Given the description of an element on the screen output the (x, y) to click on. 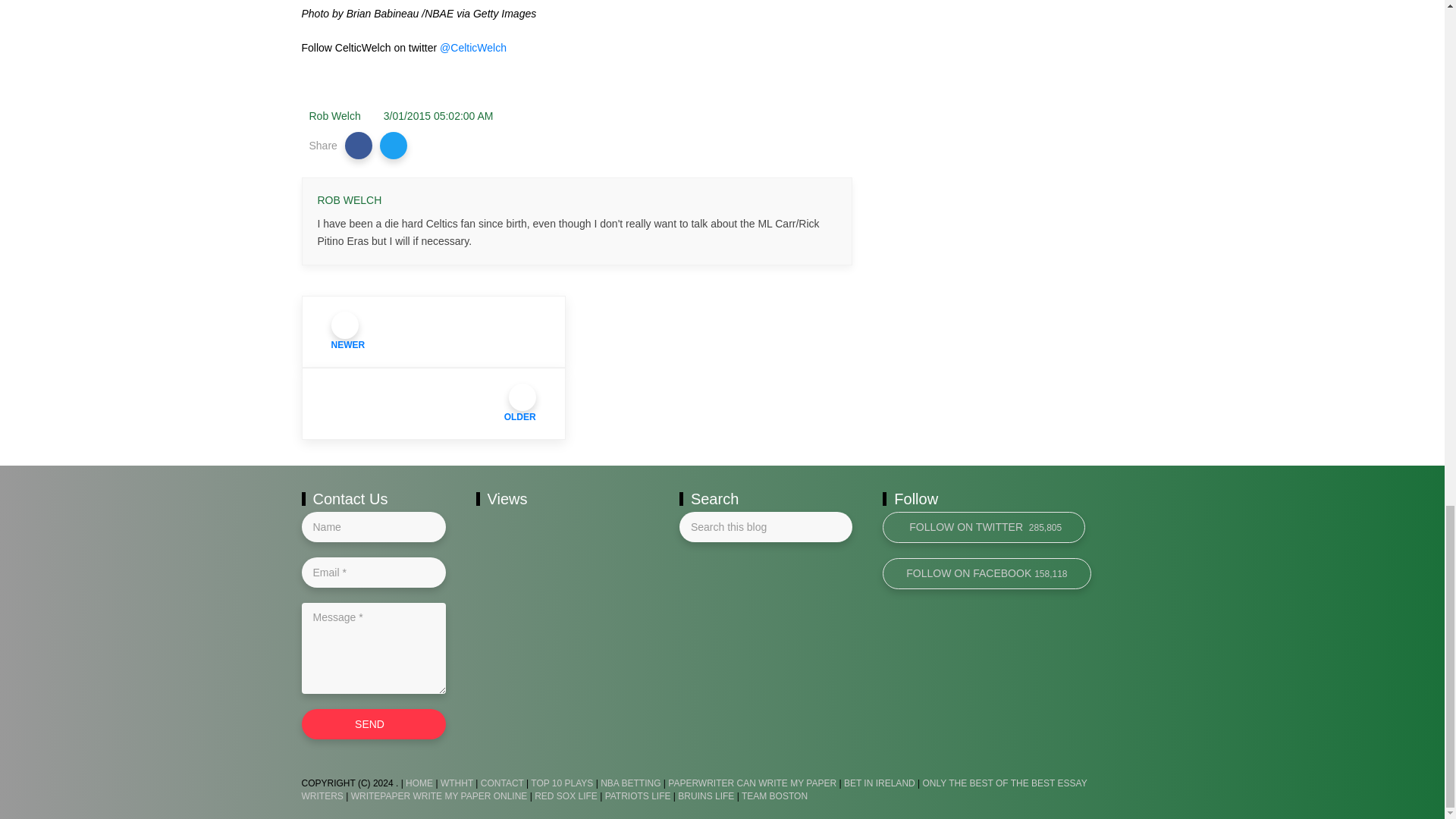
author profile (334, 115)
OLDER (433, 403)
Share to Facebook (358, 144)
ROB WELCH (349, 200)
author profile (349, 200)
Rob Welch (334, 115)
Share to Twitter (393, 144)
NEWER (433, 331)
permanent link (438, 115)
